Given the description of an element on the screen output the (x, y) to click on. 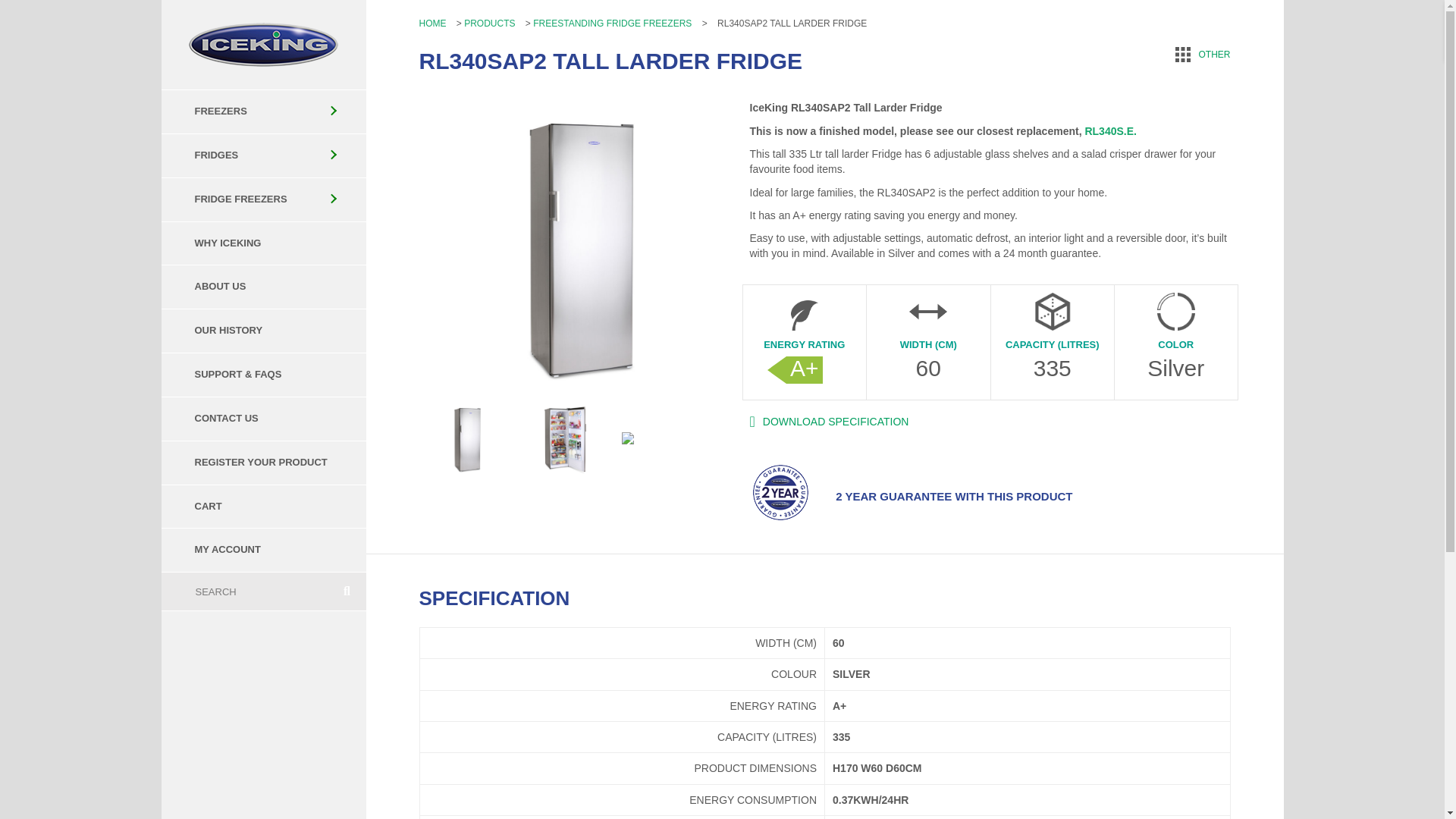
CART (262, 506)
Search (243, 591)
OUR HISTORY (262, 330)
REGISTER YOUR PRODUCT (262, 462)
MY ACCOUNT (262, 550)
iceking (263, 44)
FREEZERS (262, 111)
WHY ICEKING (262, 243)
ABOUT US (262, 286)
2year (779, 492)
FRIDGE FREEZERS (262, 199)
FRIDGES (262, 155)
CONTACT US (262, 418)
